Given the description of an element on the screen output the (x, y) to click on. 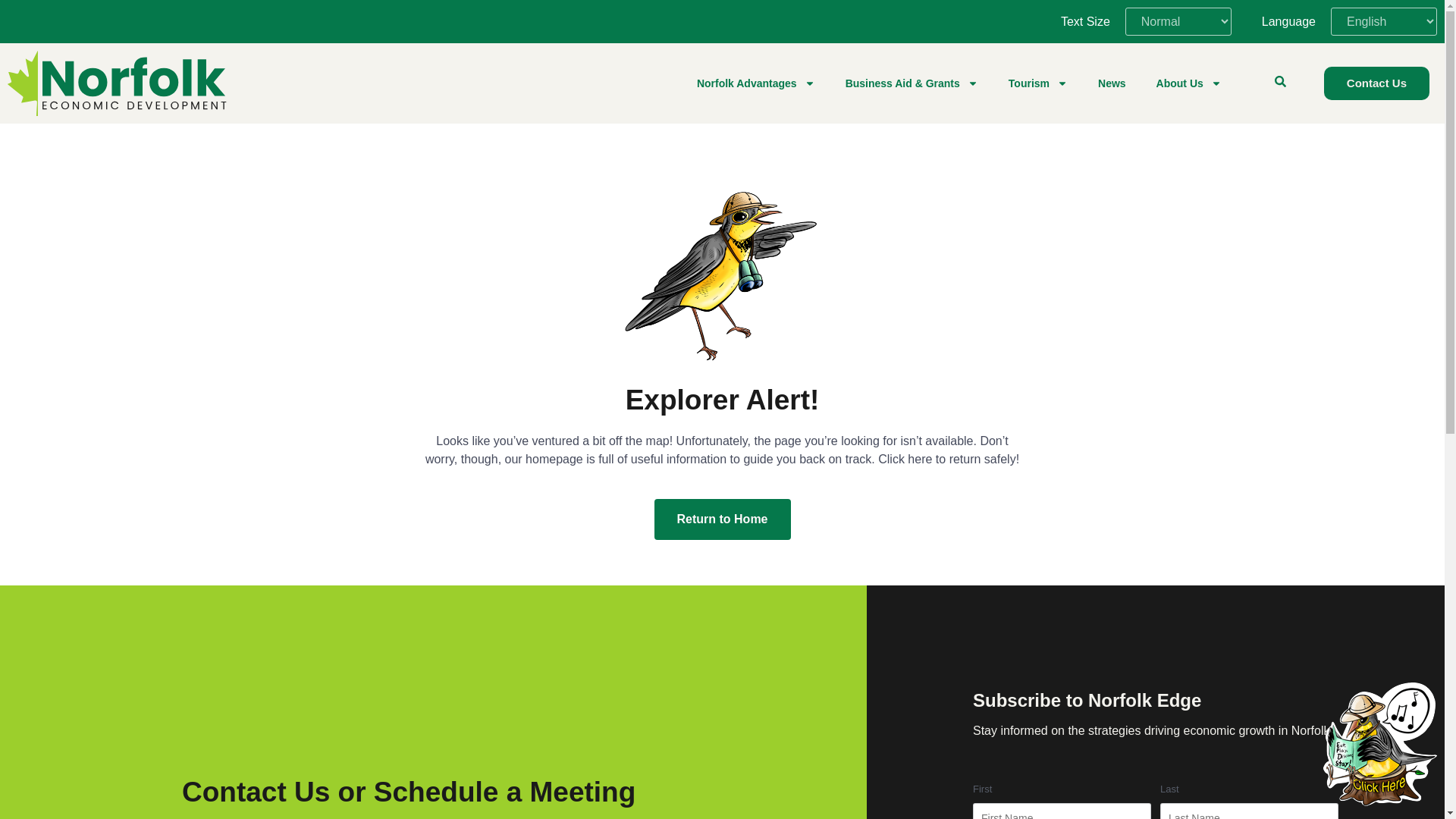
Tourism (1037, 83)
About Us (1188, 83)
Norfolk Advantages (755, 83)
News (1112, 83)
